Given the description of an element on the screen output the (x, y) to click on. 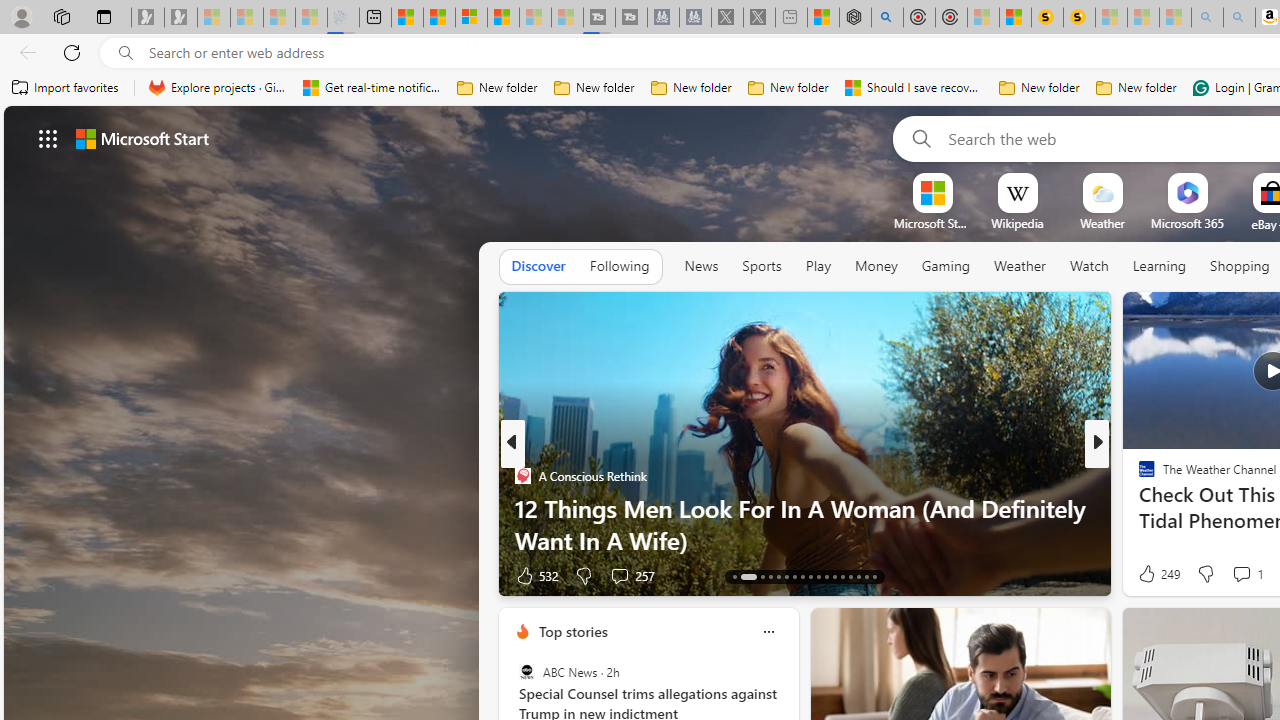
View comments 5 Comment (1234, 574)
Search icon (125, 53)
217 Like (1151, 574)
Learning (1159, 265)
Should I save recovered Word documents? - Microsoft Support (913, 88)
